Given the description of an element on the screen output the (x, y) to click on. 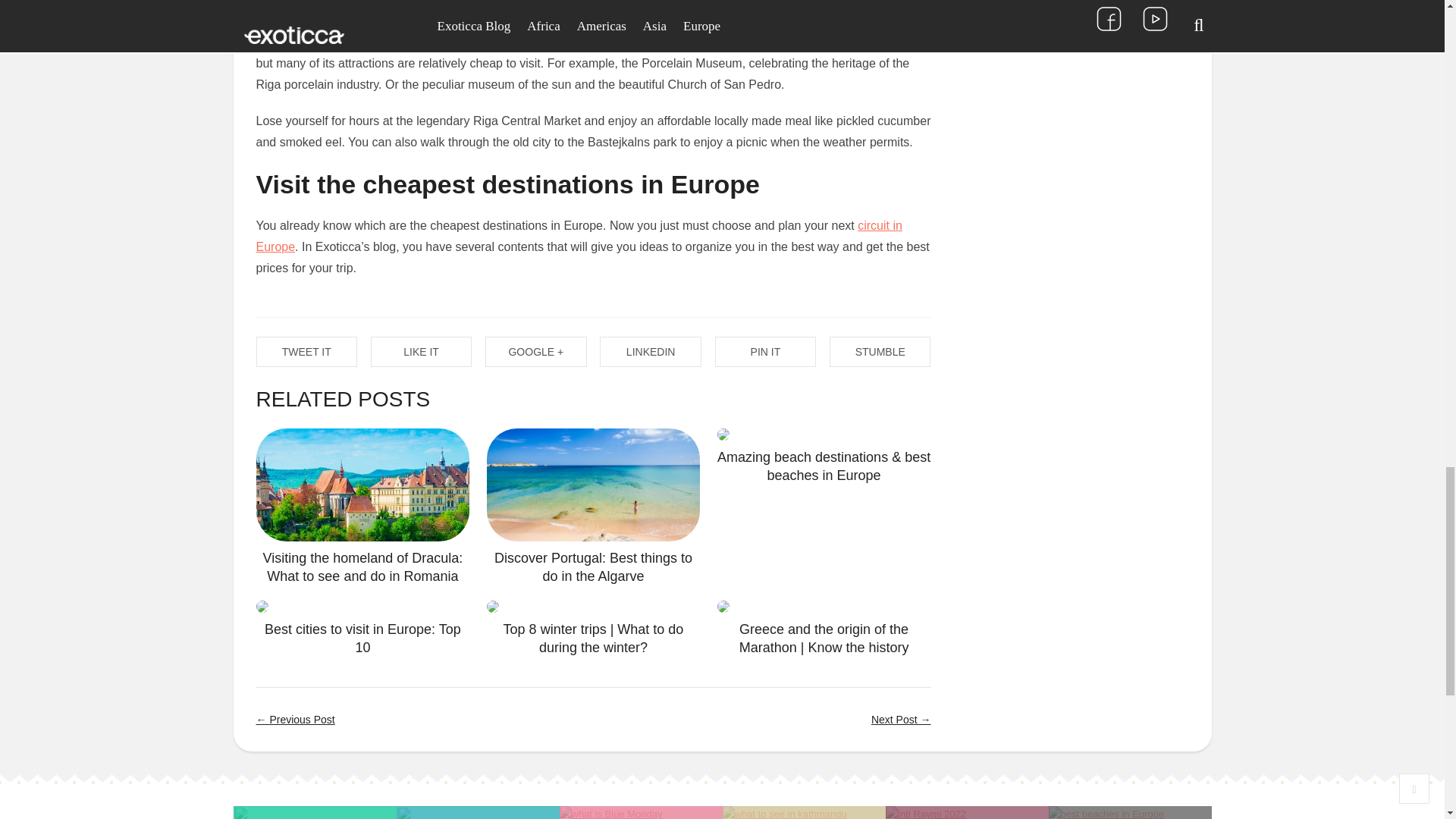
TWEET IT (307, 351)
circuit in Europe (579, 236)
LIKE IT (421, 351)
